Given the description of an element on the screen output the (x, y) to click on. 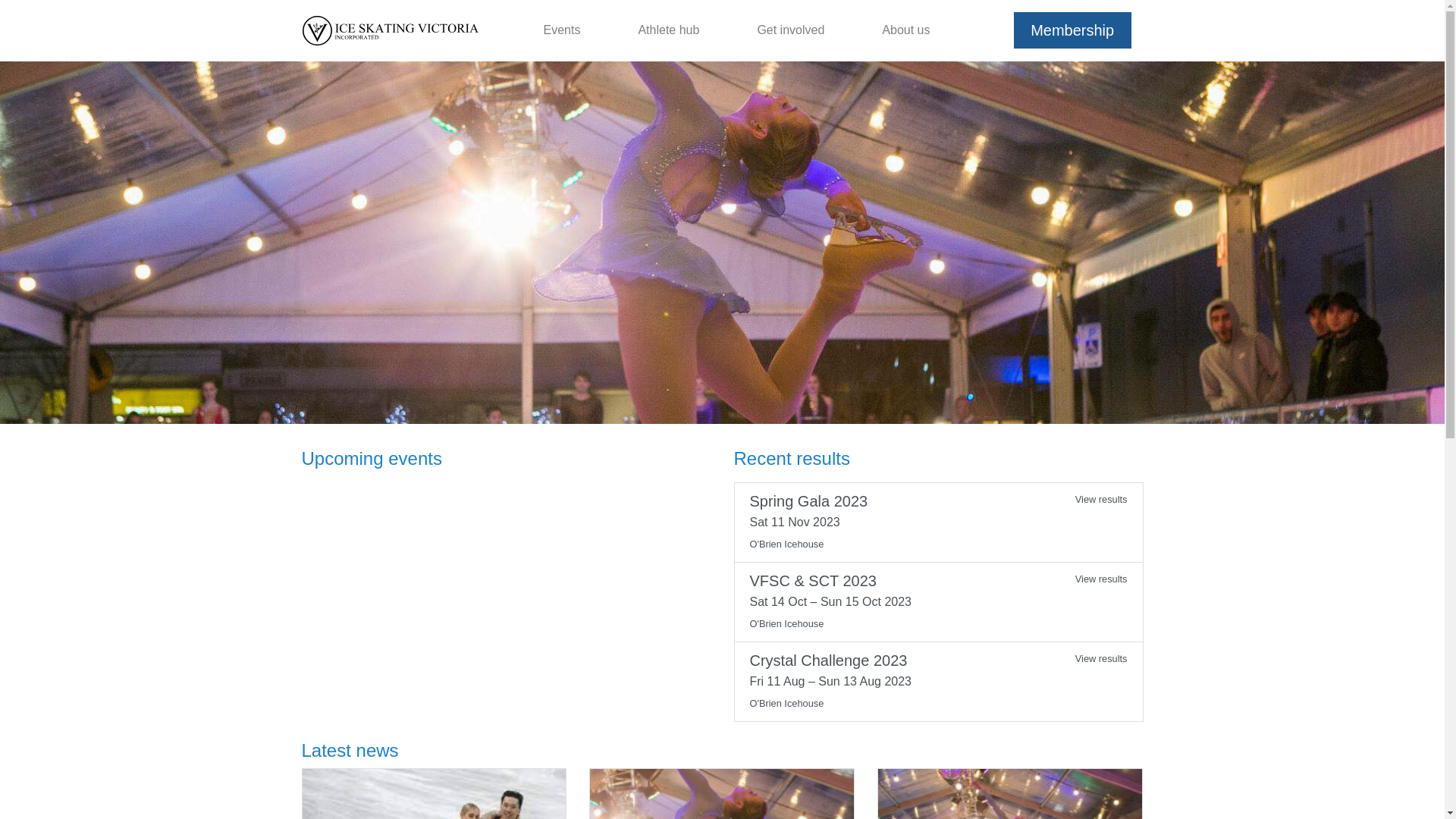
Get involved Element type: text (790, 30)
Events Element type: text (561, 30)
About us Element type: text (905, 30)
Recent results Element type: text (792, 458)
Athlete hub Element type: text (668, 30)
Latest news Element type: text (349, 750)
Membership Element type: text (1072, 30)
Upcoming events Element type: text (371, 458)
